Given the description of an element on the screen output the (x, y) to click on. 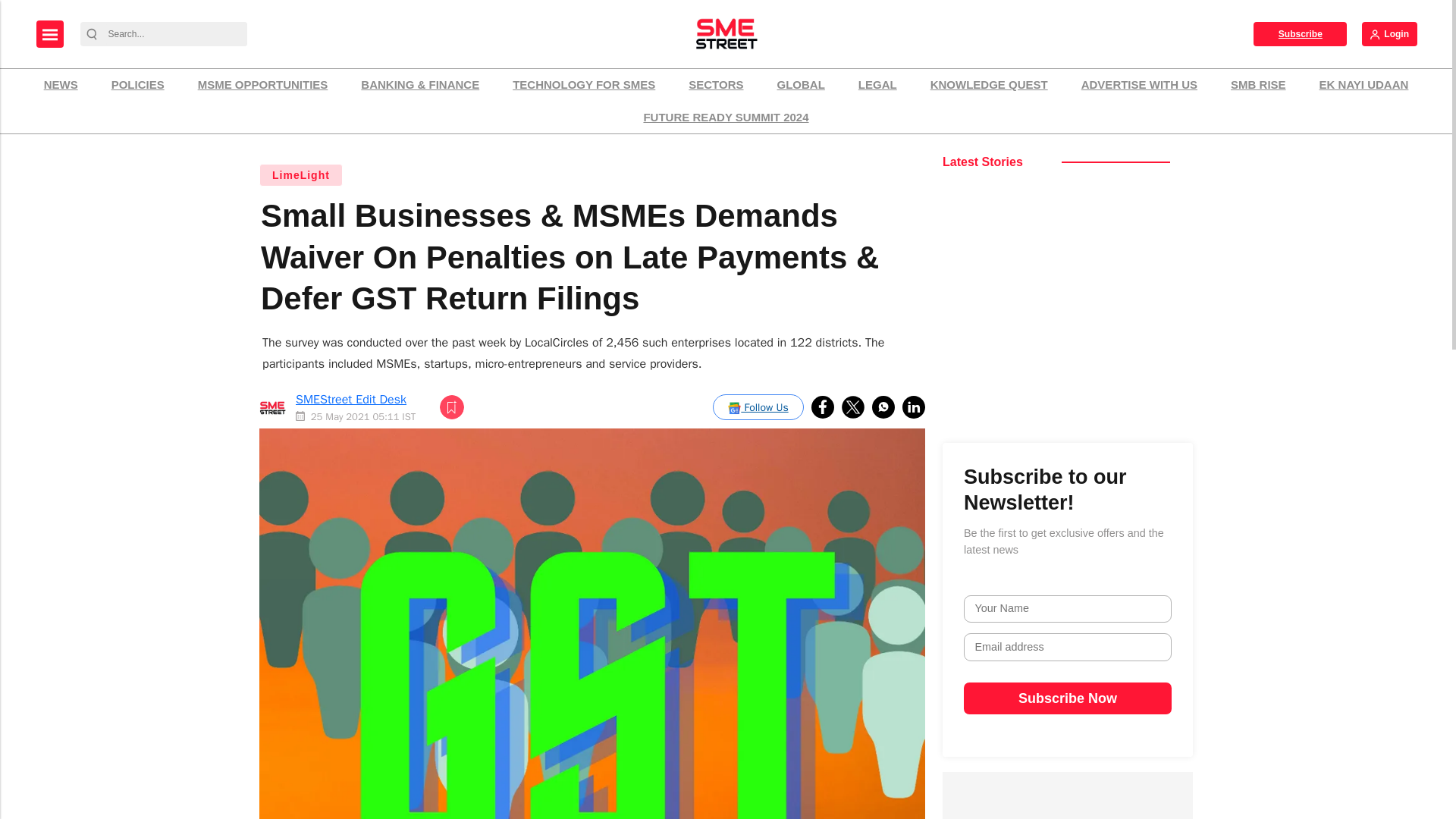
TECHNOLOGY FOR SMES (583, 84)
SECTORS (715, 84)
NEWS (60, 84)
SMB RISE (1258, 84)
ADVERTISE WITH US (1139, 84)
Subscribe (1299, 33)
Follow Us (758, 406)
FUTURE READY SUMMIT 2024 (725, 117)
KNOWLEDGE QUEST (988, 84)
EK NAYI UDAAN (1364, 84)
SMEStreet Edit Desk (350, 399)
POLICIES (138, 84)
LimeLight (300, 174)
Login (1388, 33)
LEGAL (877, 84)
